Given the description of an element on the screen output the (x, y) to click on. 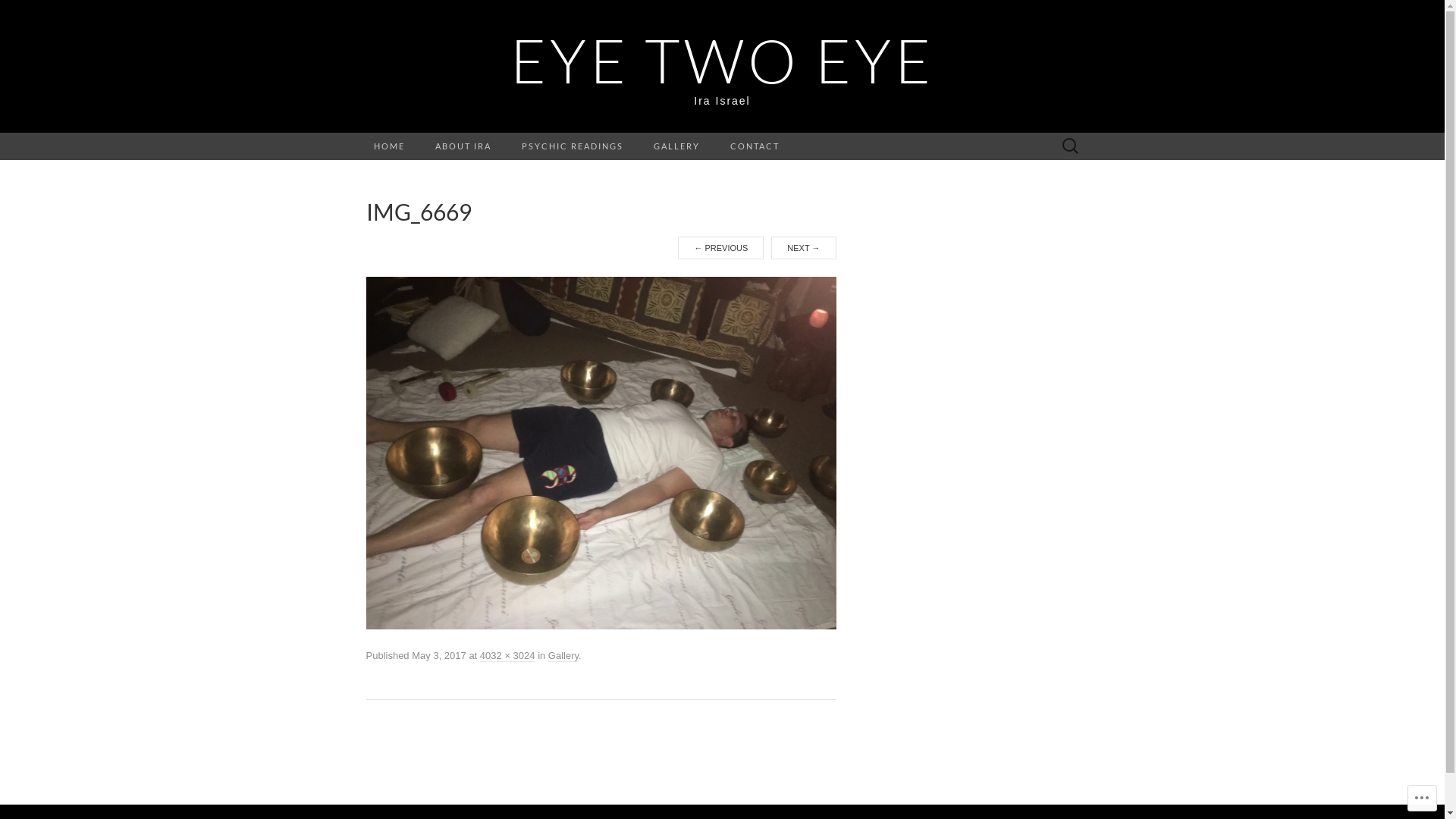
IMG_6669 Element type: hover (600, 452)
CONTACT Element type: text (753, 146)
ABOUT IRA Element type: text (463, 146)
HOME Element type: text (388, 146)
PSYCHIC READINGS Element type: text (572, 146)
EYE TWO EYE
Ira Israel Element type: text (721, 66)
GALLERY Element type: text (676, 146)
Gallery Element type: text (563, 655)
Search Element type: text (15, 12)
